Given the description of an element on the screen output the (x, y) to click on. 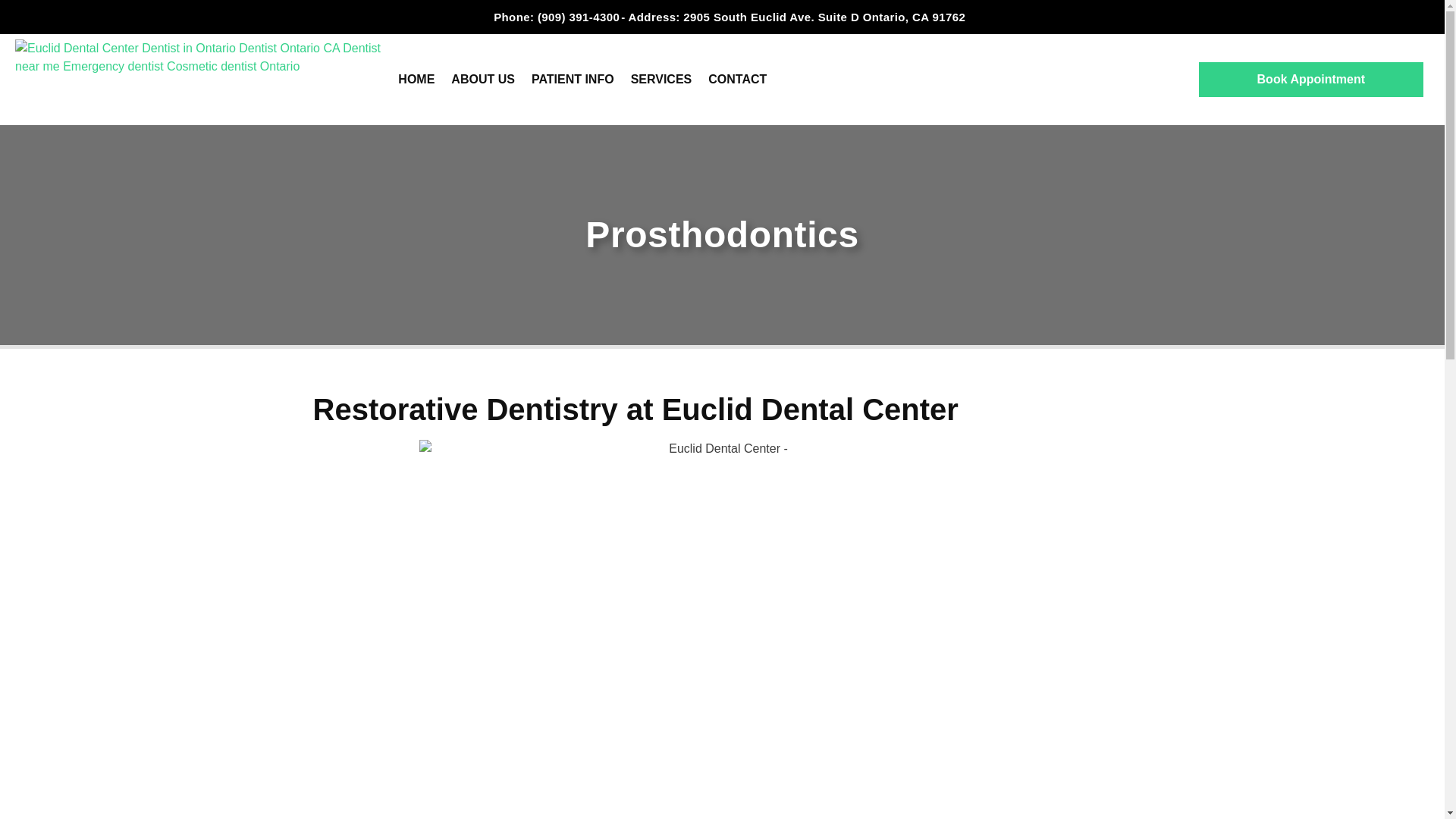
PATIENT INFO (572, 65)
SERVICES (661, 73)
2905 South Euclid Ave. Suite D Ontario, CA 91762 (823, 6)
ABOUT US (482, 52)
HOME (416, 51)
